Given the description of an element on the screen output the (x, y) to click on. 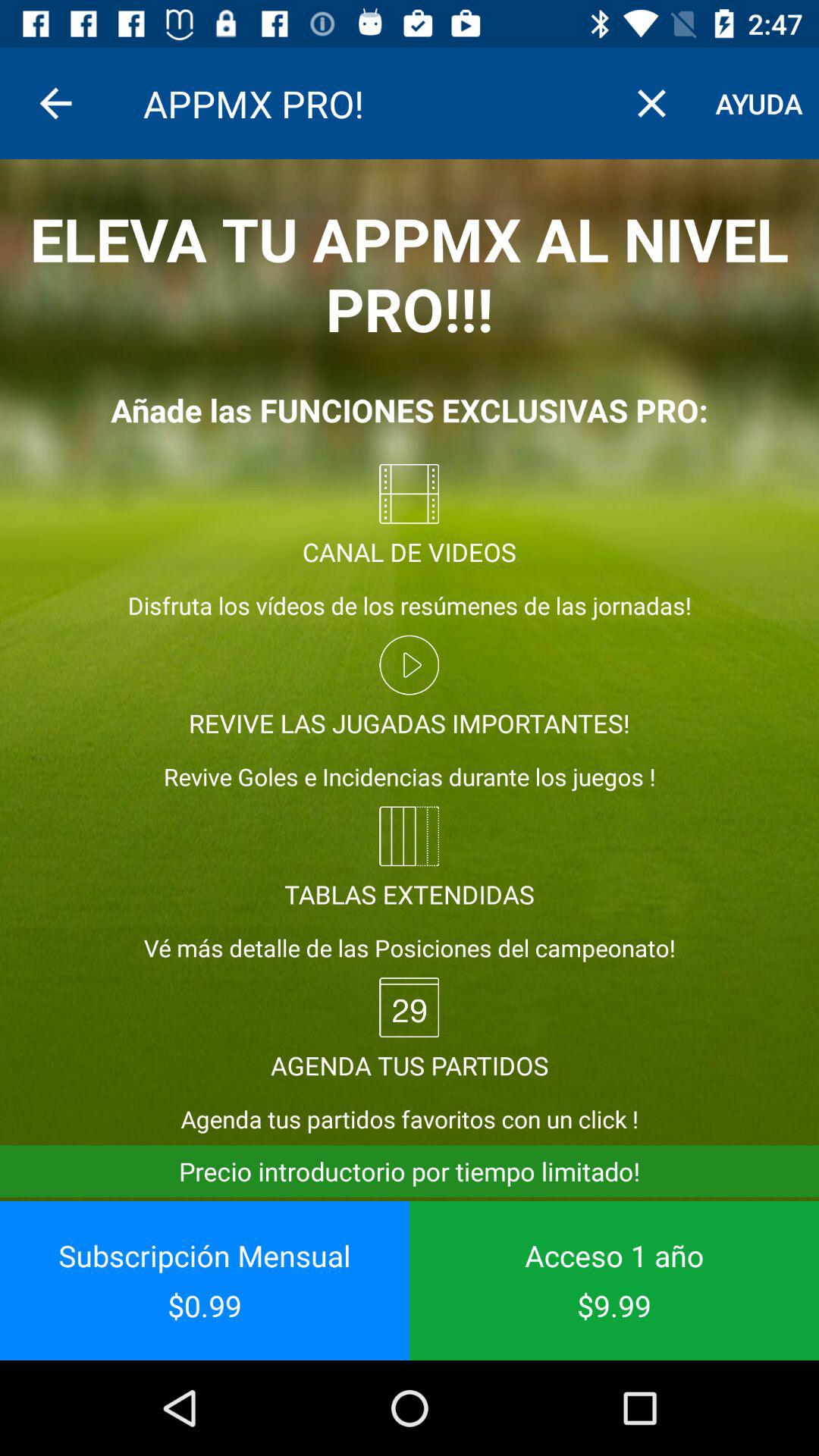
tap icon to the left of ayuda (651, 103)
